Given the description of an element on the screen output the (x, y) to click on. 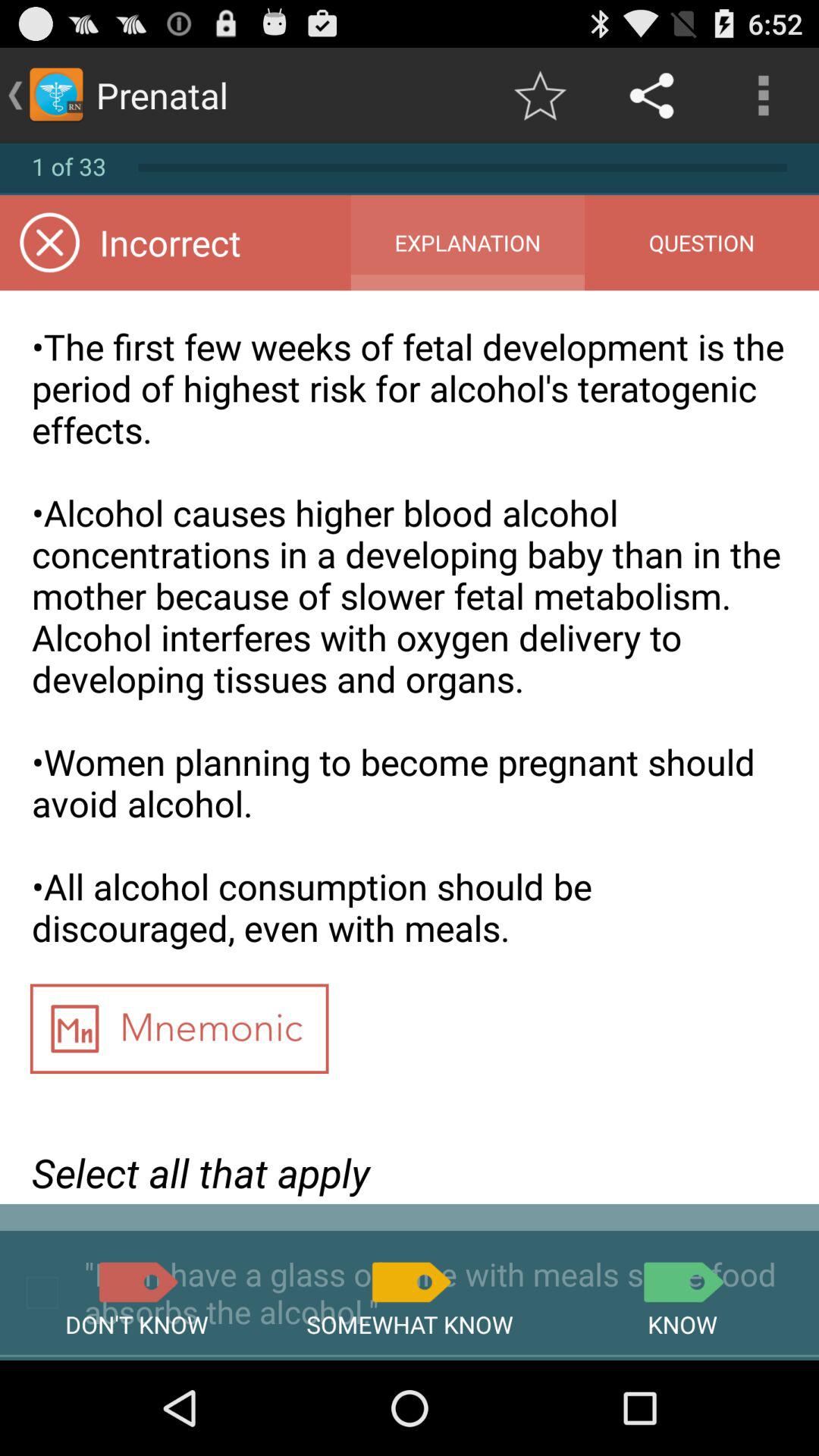
open item above the the first few item (467, 242)
